Given the description of an element on the screen output the (x, y) to click on. 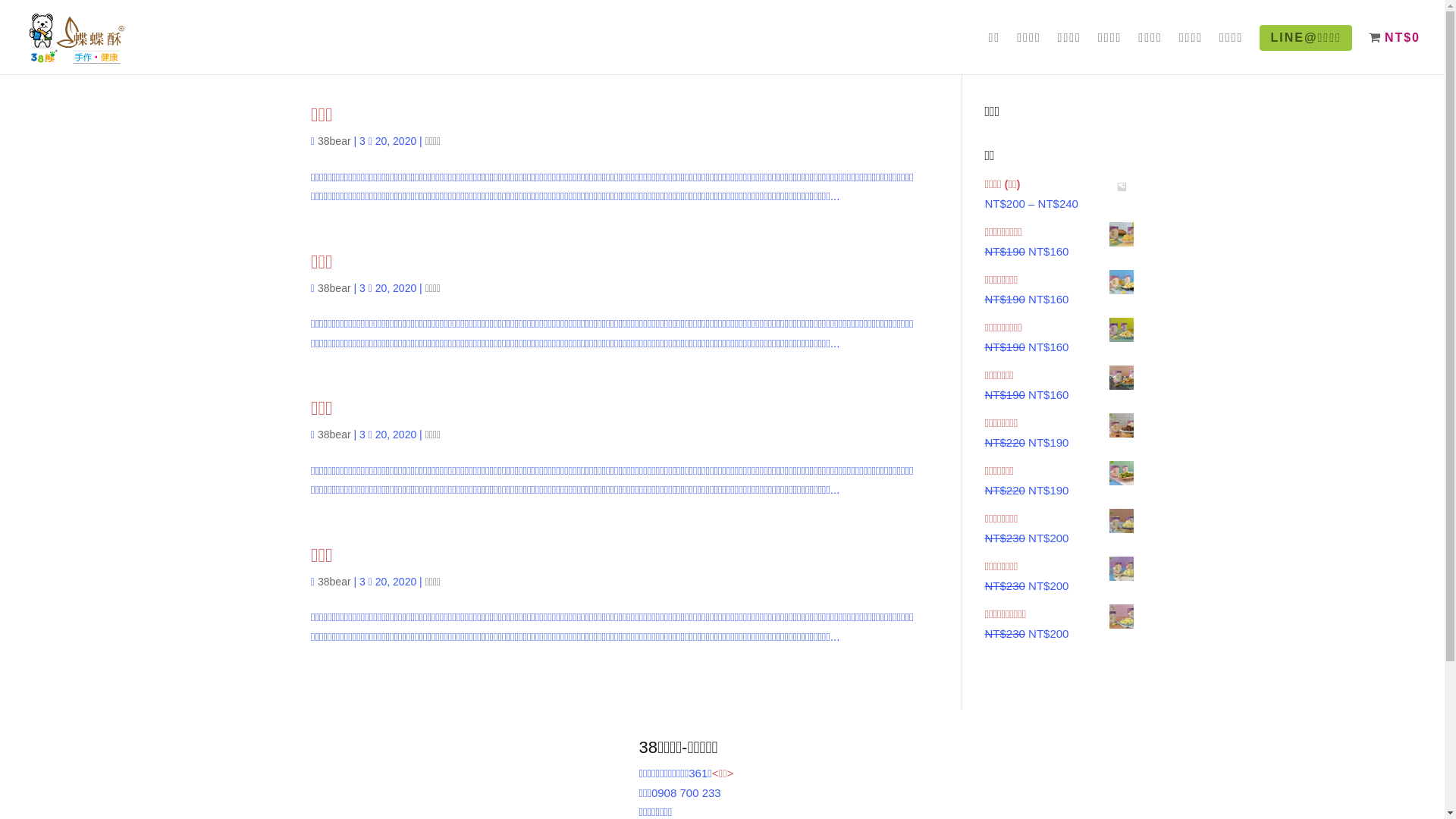
NT$0 Element type: text (1394, 52)
38bear Element type: text (334, 288)
38bear Element type: text (334, 140)
38bear Element type: text (334, 434)
38bear Element type: text (334, 580)
